Given the description of an element on the screen output the (x, y) to click on. 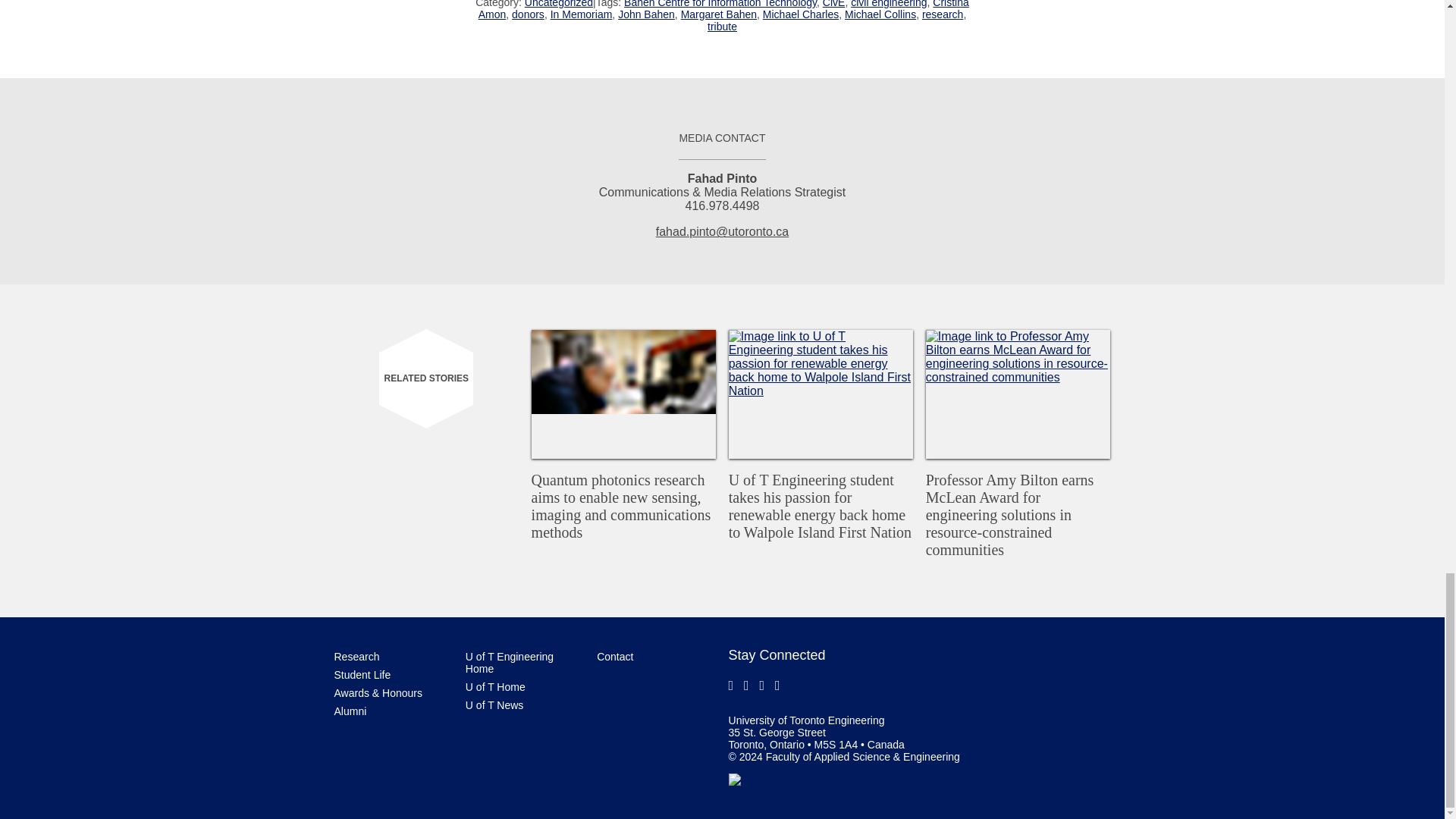
Michael Charles (800, 14)
donors (528, 14)
In Memoriam (581, 14)
civil engineering (888, 4)
Michael Collins (879, 14)
CivE (833, 4)
research (941, 14)
Bahen Centre for Information Technology (720, 4)
Uncategorized (558, 4)
John Bahen (646, 14)
